Given the description of an element on the screen output the (x, y) to click on. 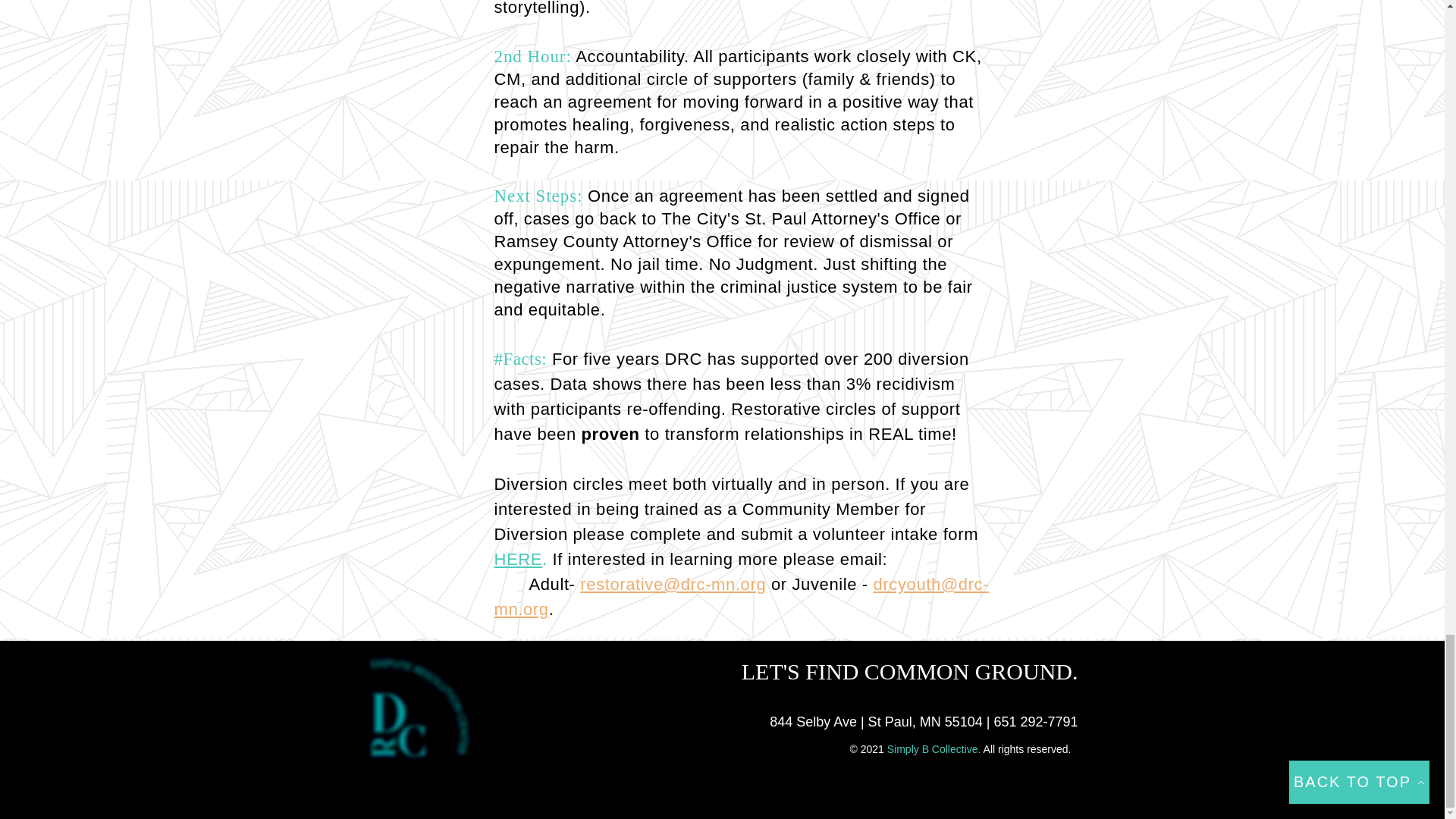
651 292-7791 (1034, 721)
HERE (519, 558)
Simply B Collective. (935, 748)
